Given the description of an element on the screen output the (x, y) to click on. 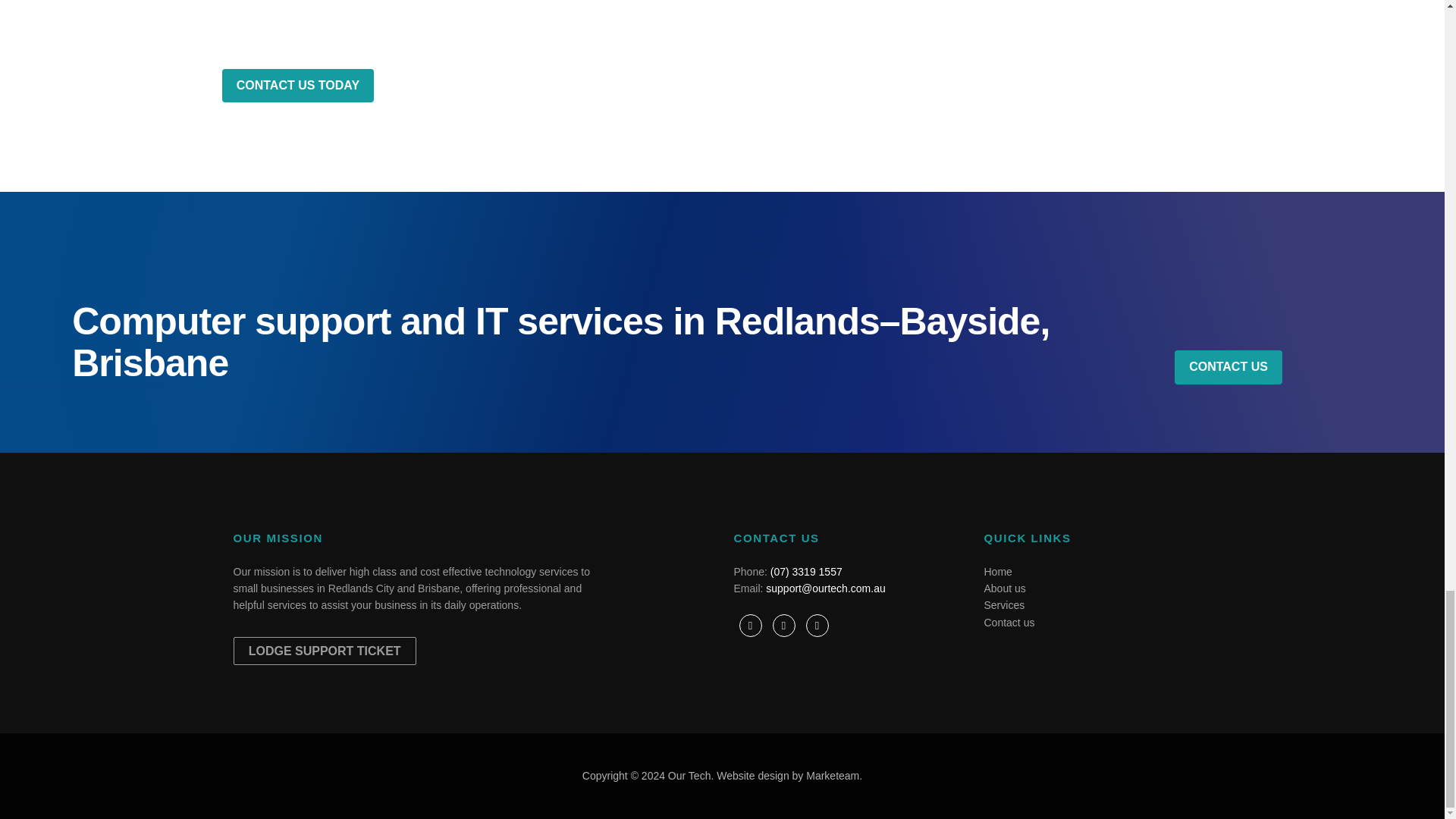
Services (1004, 604)
Marketeam (832, 775)
Home (997, 571)
CONTACT US TODAY (297, 85)
Contact us (1009, 622)
About us (1005, 588)
CONTACT US (1228, 367)
LODGE SUPPORT TICKET (324, 651)
